Given the description of an element on the screen output the (x, y) to click on. 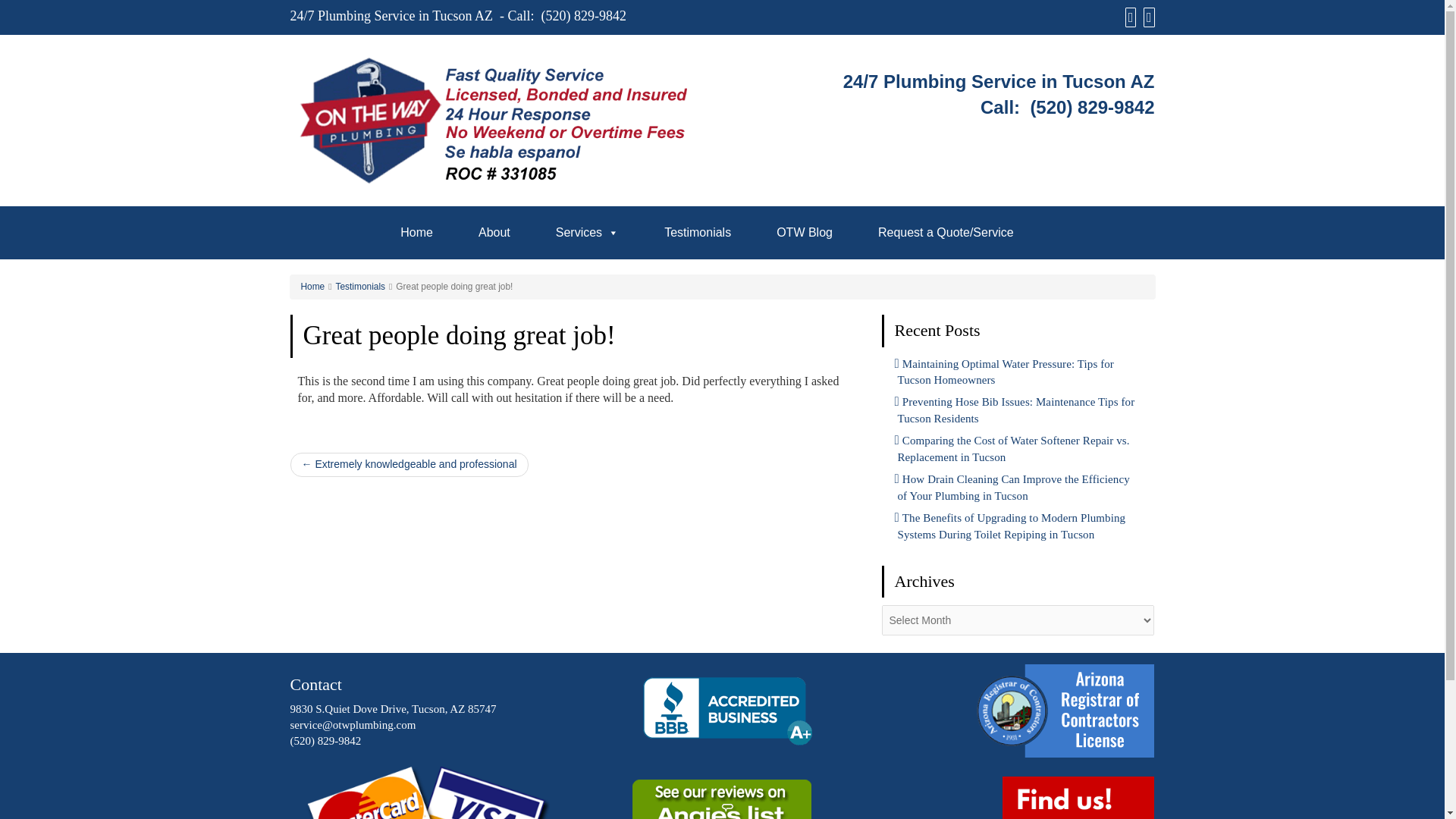
Services (587, 232)
OTW Blog (804, 232)
Facebook (1129, 17)
About (494, 232)
Testimonials (360, 286)
Testimonials (697, 232)
Home (417, 232)
Home (311, 286)
Yelp (1147, 17)
